Given the description of an element on the screen output the (x, y) to click on. 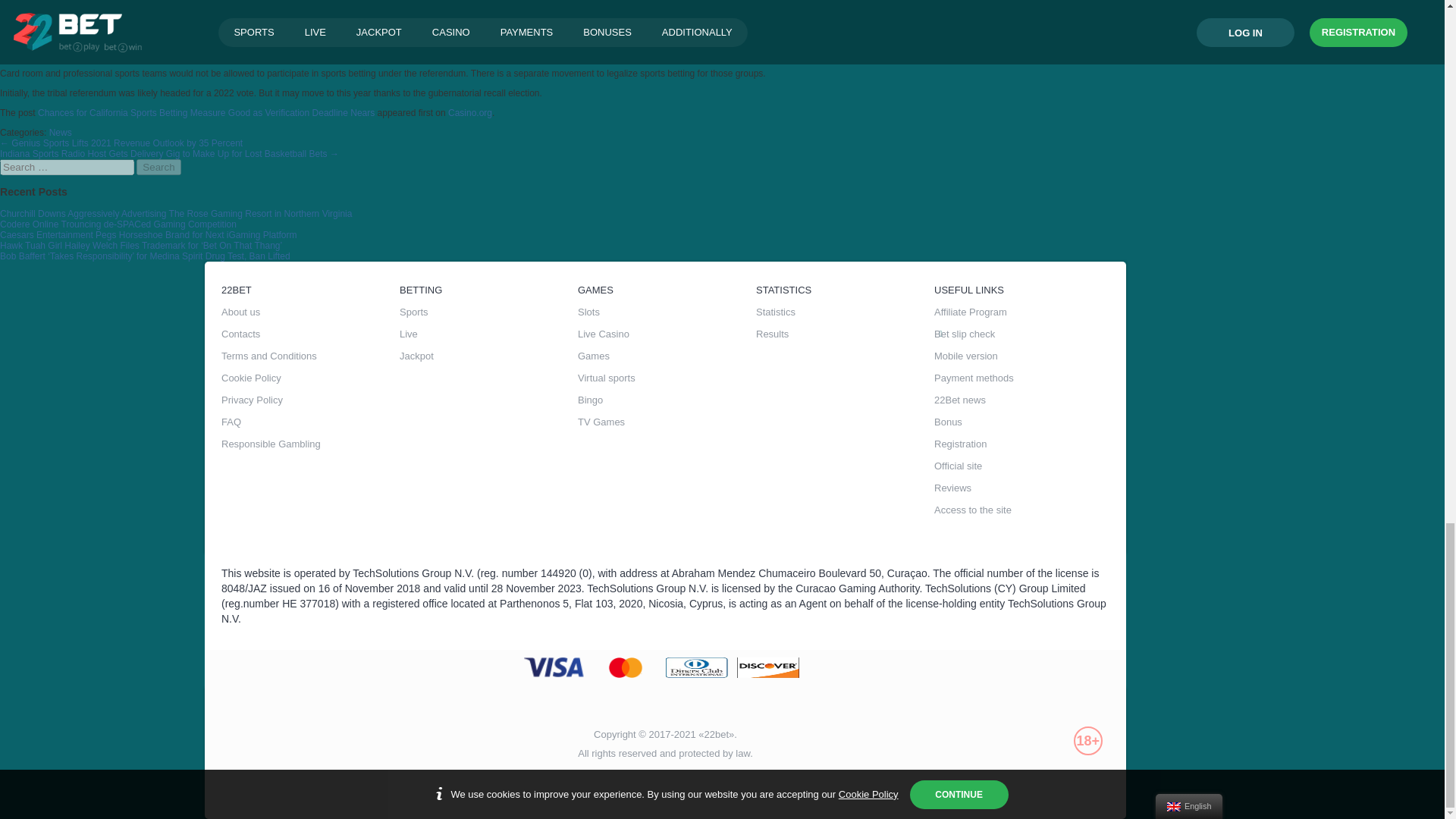
News (60, 132)
Privacy Policy (308, 402)
Terms and Conditions (308, 357)
Casino.org (470, 112)
Contacts (308, 335)
About us (308, 313)
Sports (486, 313)
FAQ (308, 424)
Live (486, 335)
